Given the description of an element on the screen output the (x, y) to click on. 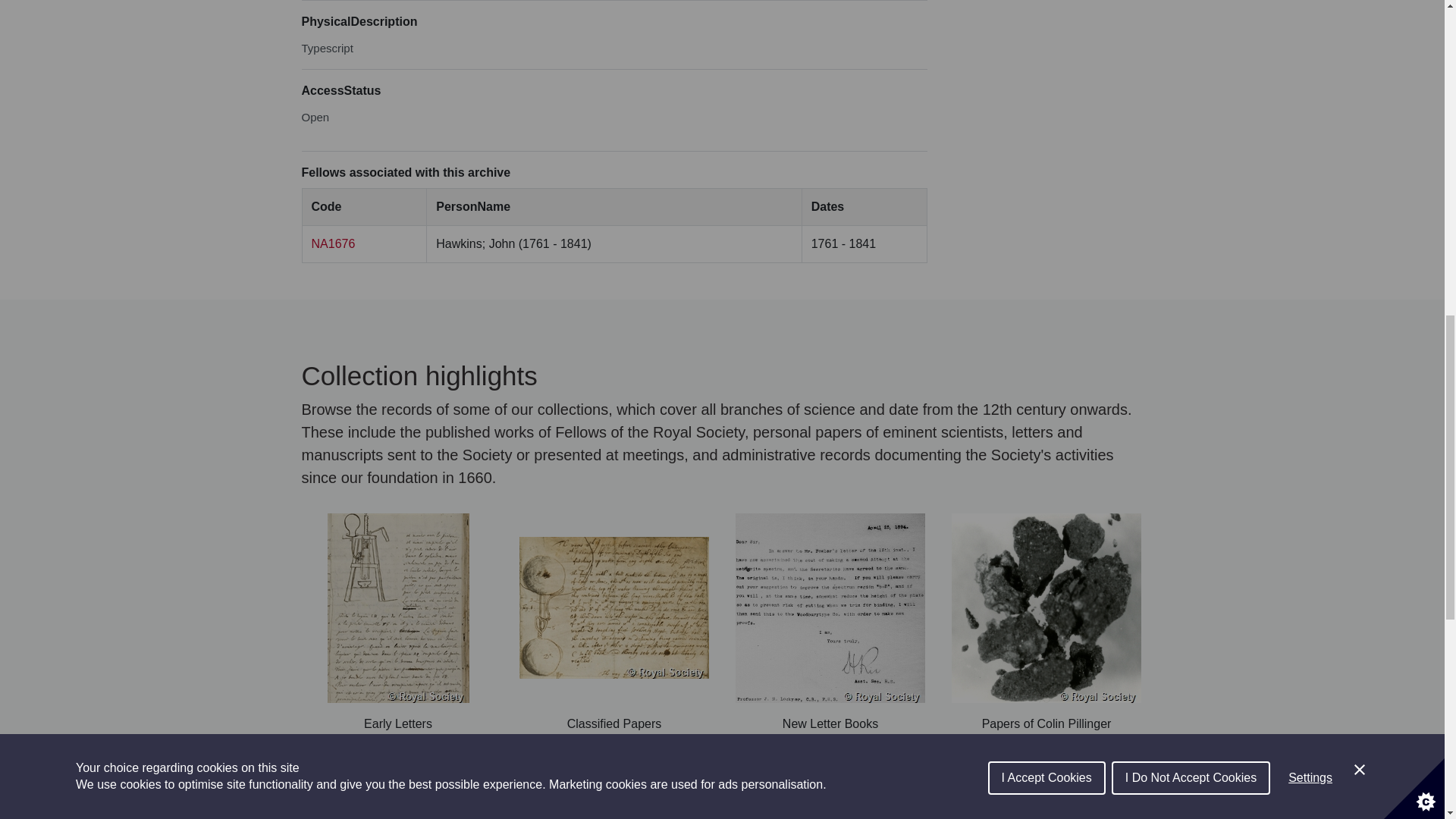
Browse Collections (722, 771)
NA1676 (333, 243)
New Letter Books (830, 623)
I Accept Cookies (1046, 24)
Classified Papers (613, 623)
Show related Persons records. (333, 243)
Settings (1309, 8)
Papers of Colin Pillinger (1045, 623)
I Do Not Accept Cookies (1190, 12)
Early Letters (398, 623)
